Given the description of an element on the screen output the (x, y) to click on. 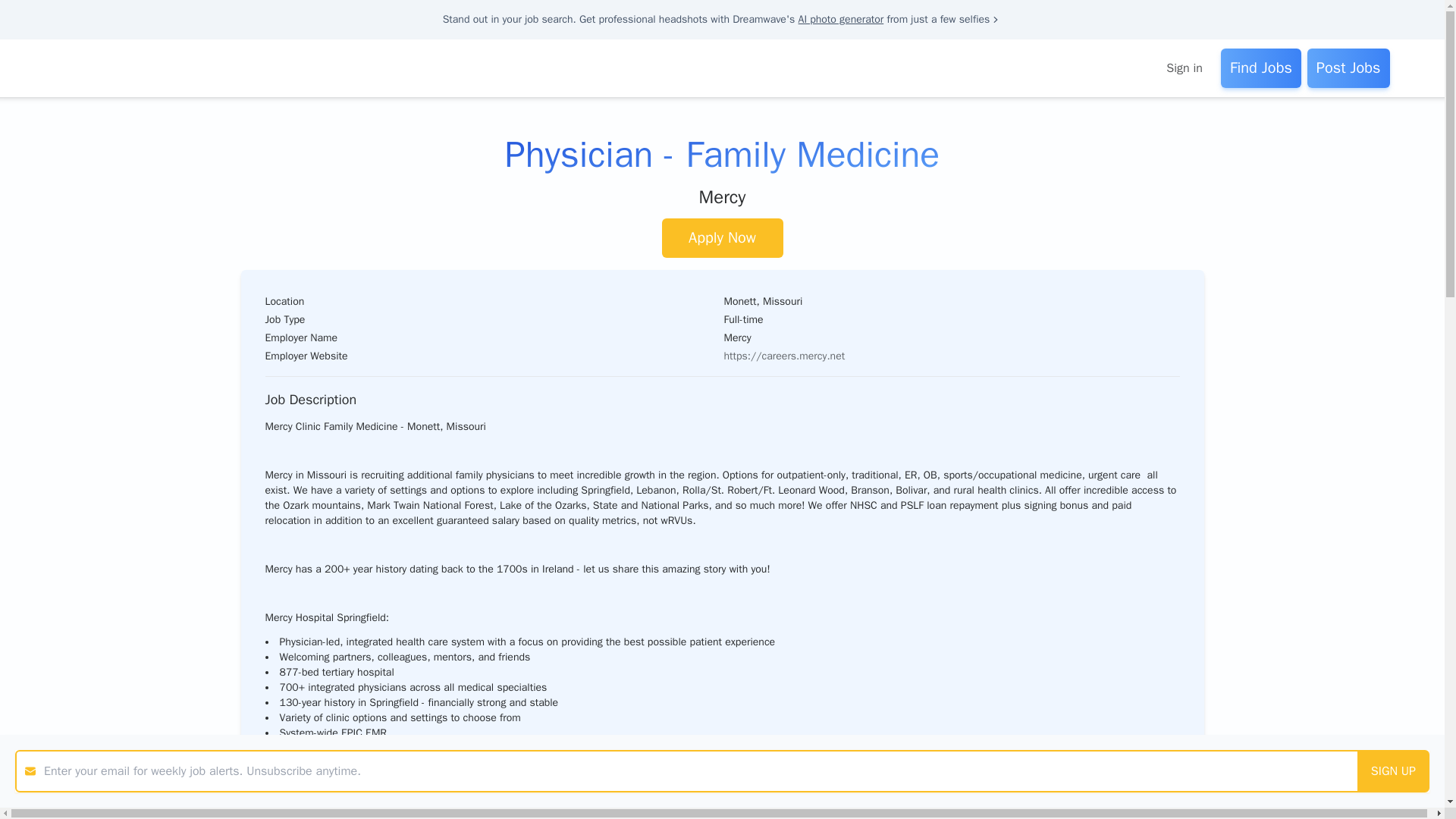
Dreamwave's (763, 19)
Mercy (721, 196)
Post Jobs (1348, 67)
AI photo generator (840, 19)
SIGN UP (1392, 771)
Find Jobs (1261, 67)
